Given the description of an element on the screen output the (x, y) to click on. 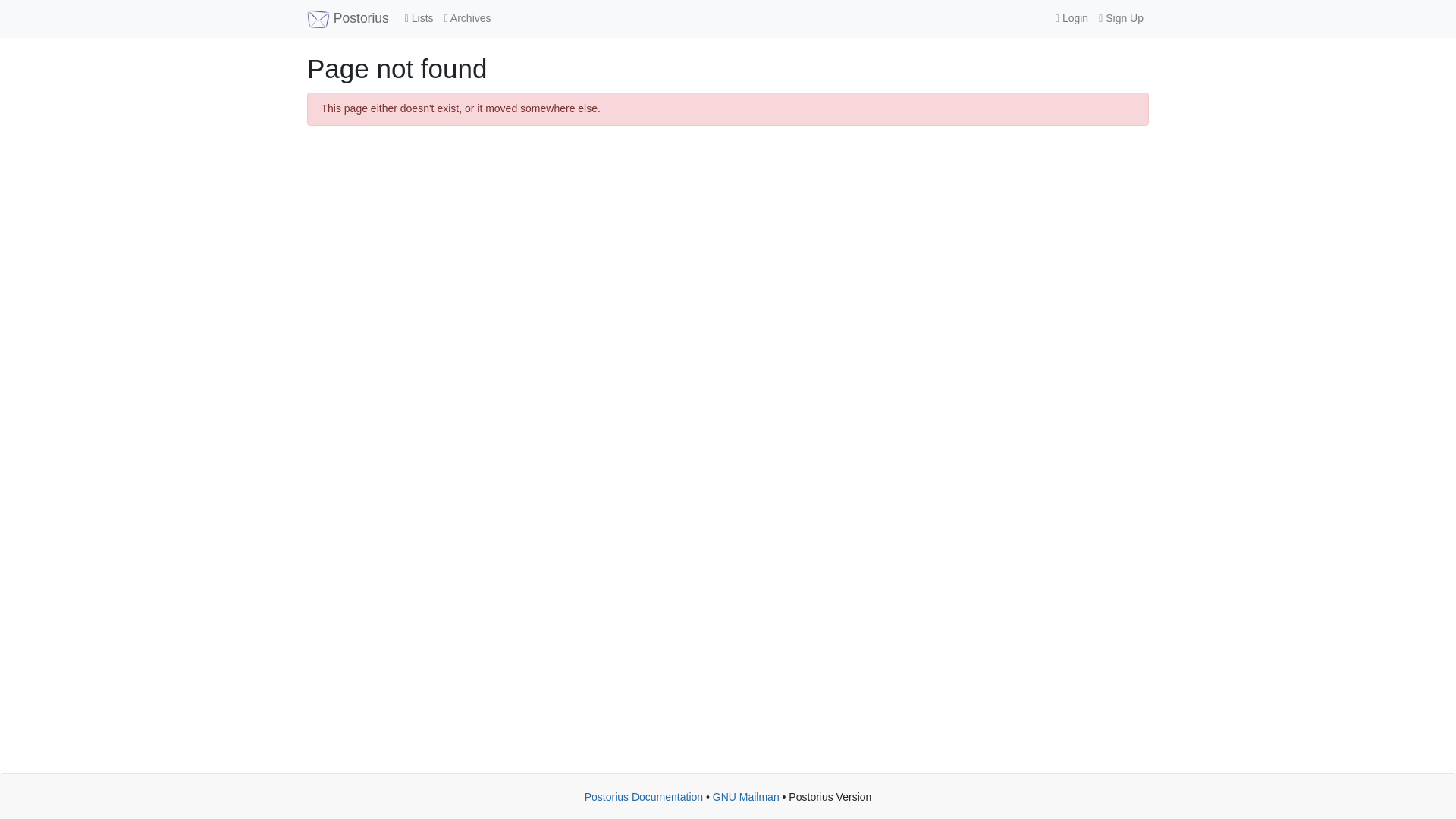
Login (1071, 17)
Lists (418, 17)
Postorius (347, 18)
Archives (467, 17)
Sign Up (1120, 17)
